Given the description of an element on the screen output the (x, y) to click on. 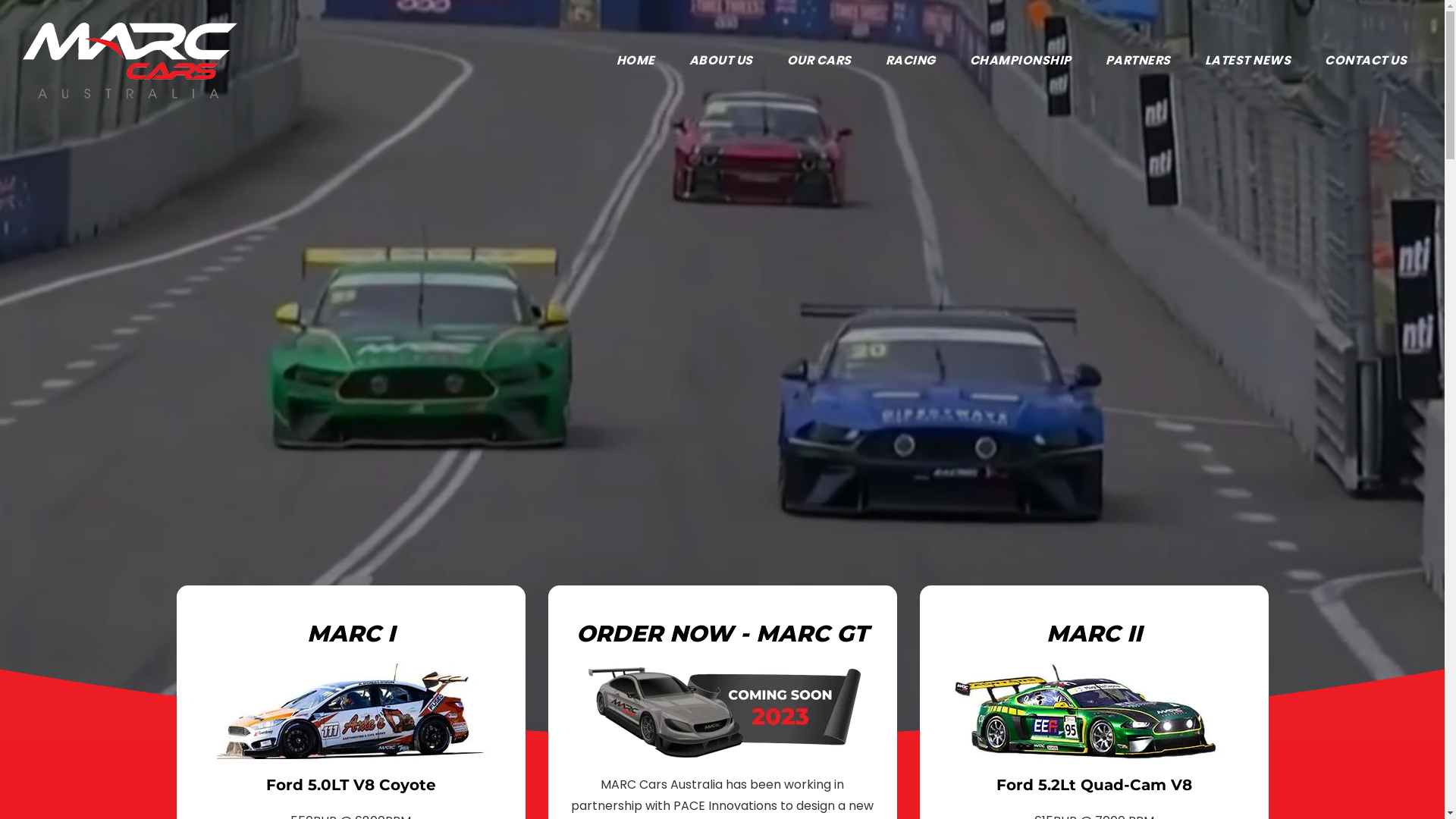
CHAMPIONSHIP Element type: text (1019, 60)
OUR CARS Element type: text (818, 60)
RACING Element type: text (910, 60)
MARC Cars Australia Element type: hover (129, 59)
ABOUT US Element type: text (720, 60)
HOME Element type: text (634, 60)
CONTACT US Element type: text (1365, 60)
PARTNERS Element type: text (1138, 60)
LATEST NEWS Element type: text (1247, 60)
